Given the description of an element on the screen output the (x, y) to click on. 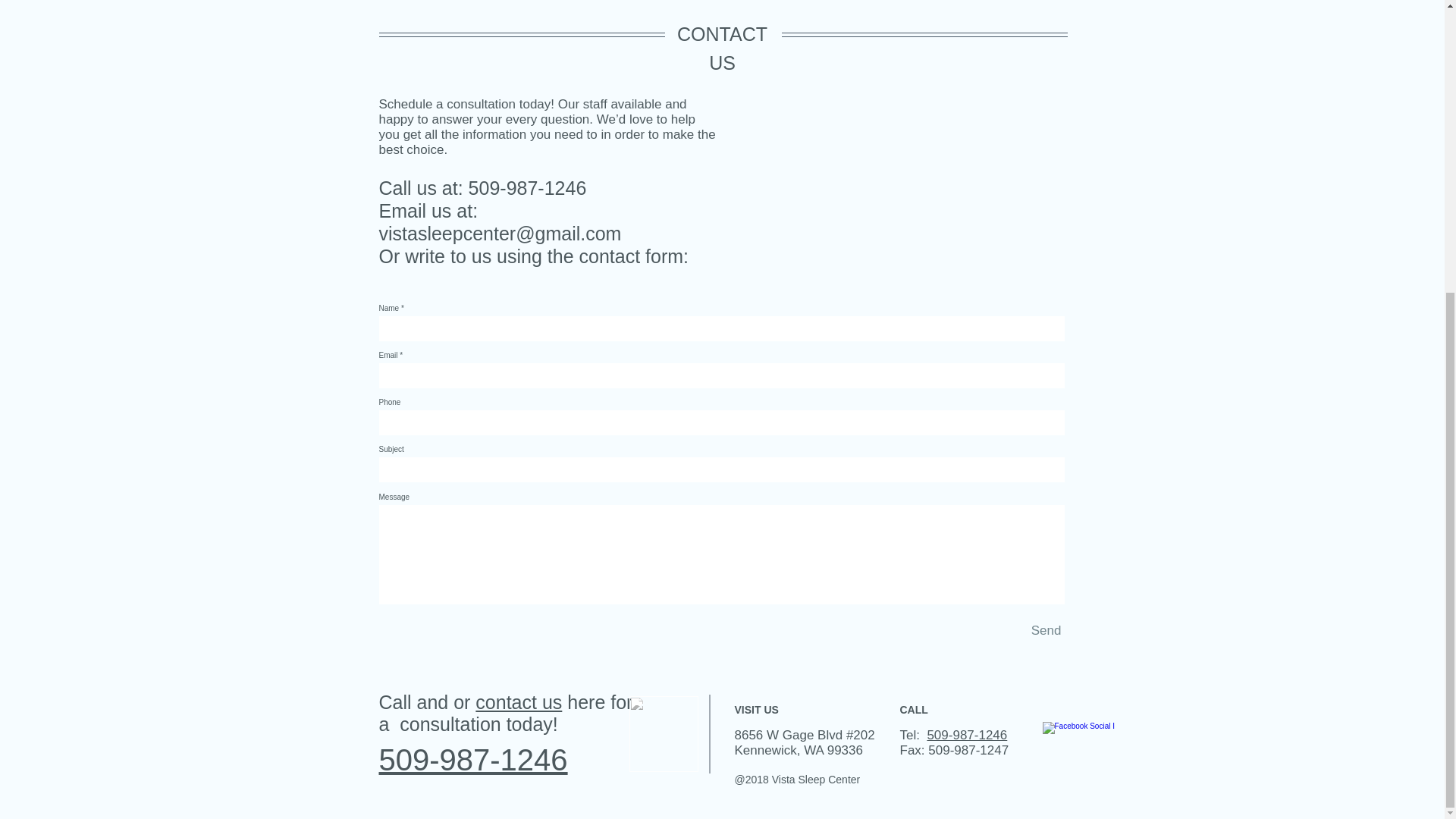
509-987-1246 (472, 758)
509-987-1246 (966, 734)
contact us (519, 701)
sleep.png (663, 733)
Send (1045, 631)
